Given the description of an element on the screen output the (x, y) to click on. 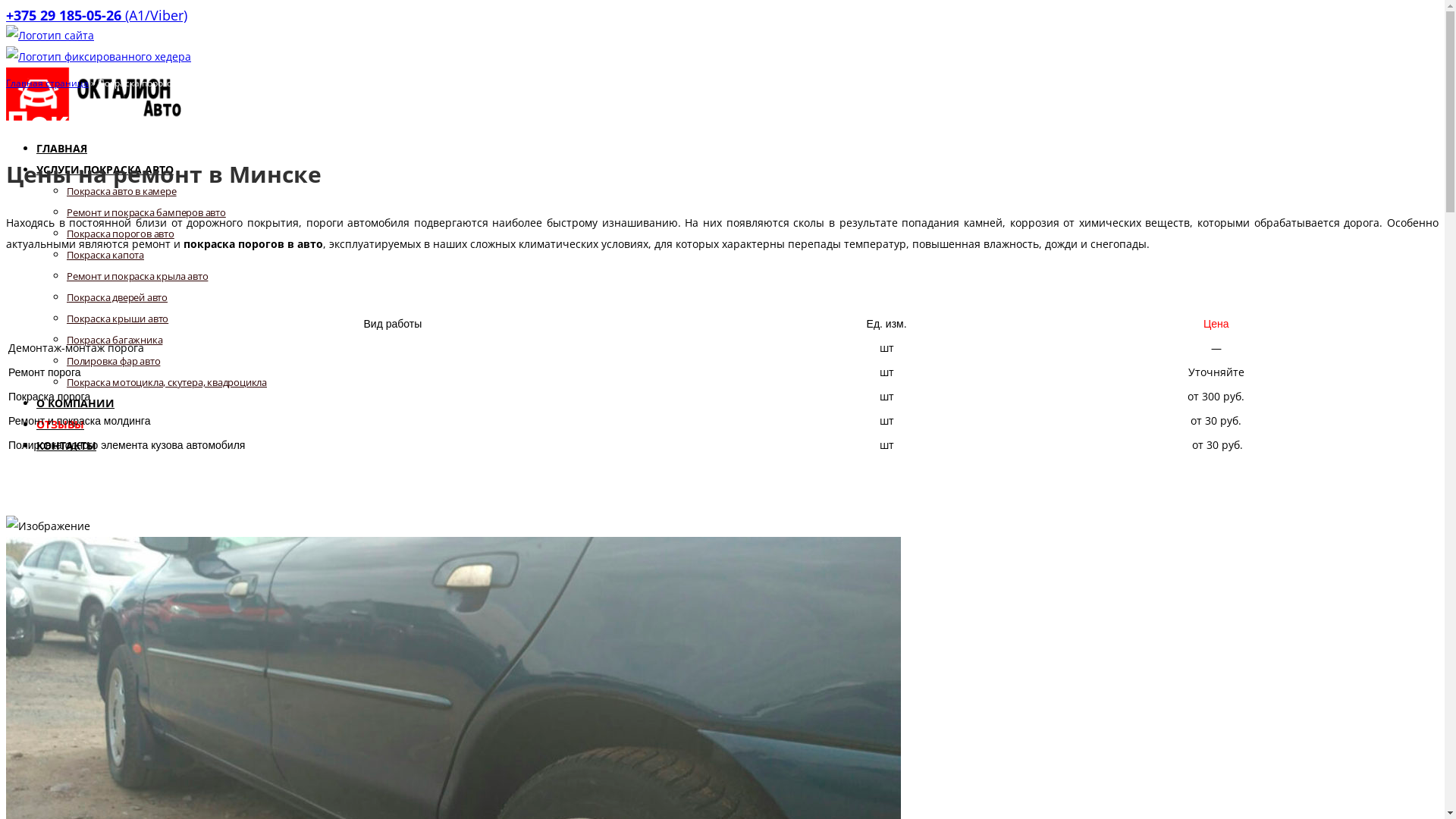
+375 29 185-05-26 (A1/Viber) Element type: text (96, 15)
